Given the description of an element on the screen output the (x, y) to click on. 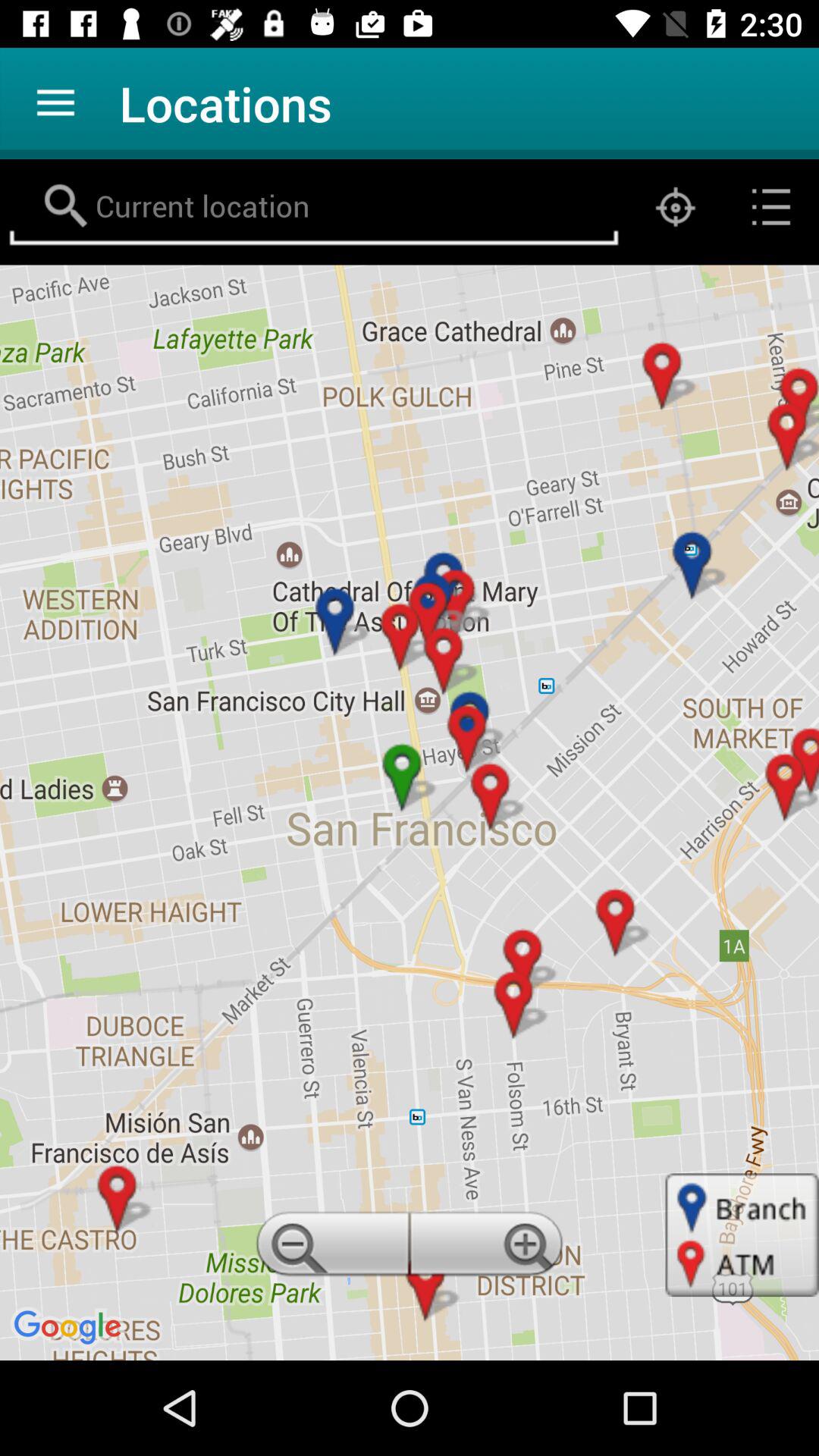
zoom out option (329, 1248)
